Given the description of an element on the screen output the (x, y) to click on. 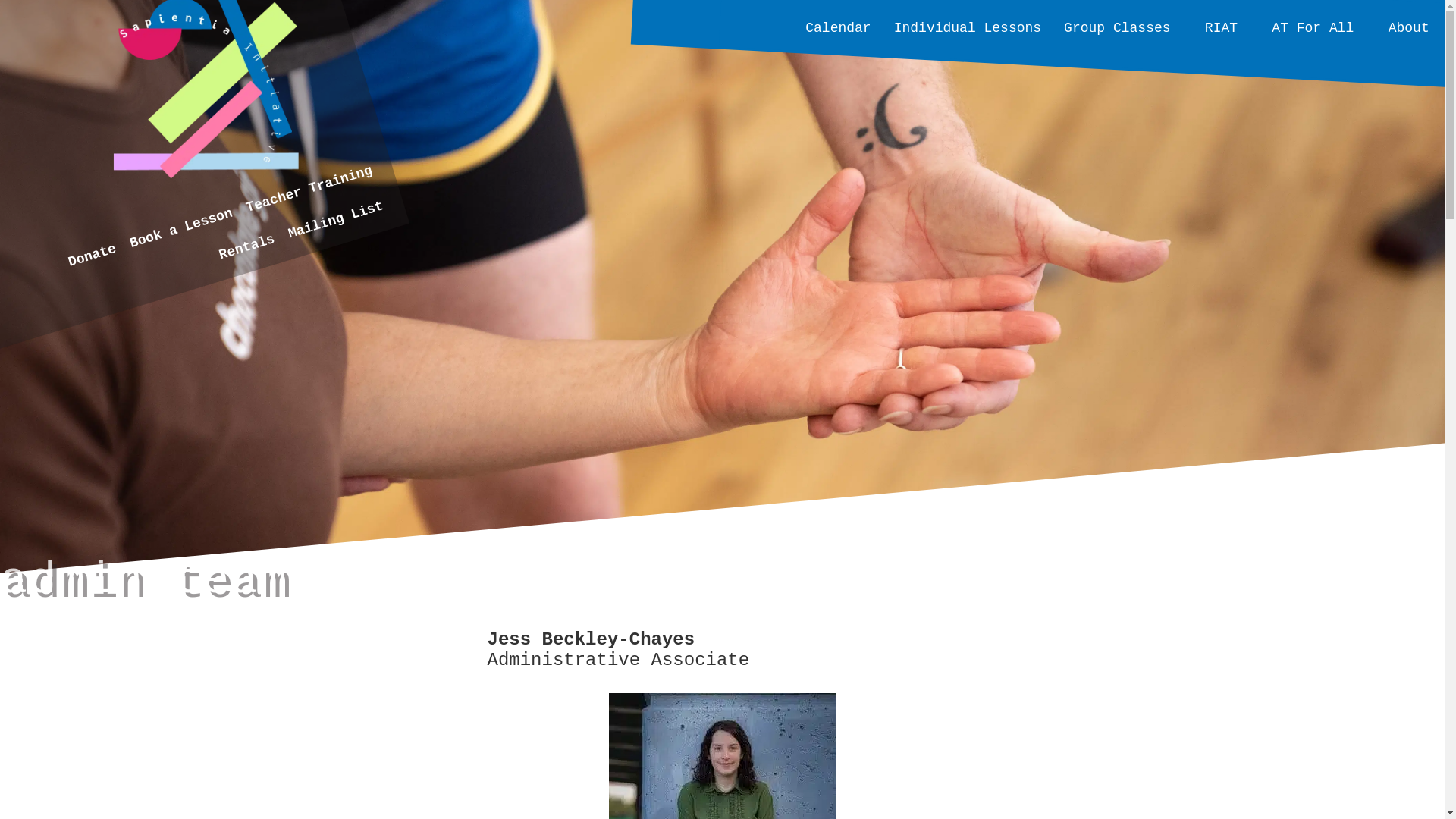
RIAT (1221, 28)
About (1409, 28)
Individual Lessons (967, 28)
AT For All (1312, 28)
Calendar (837, 28)
Group Classes (1117, 28)
